Given the description of an element on the screen output the (x, y) to click on. 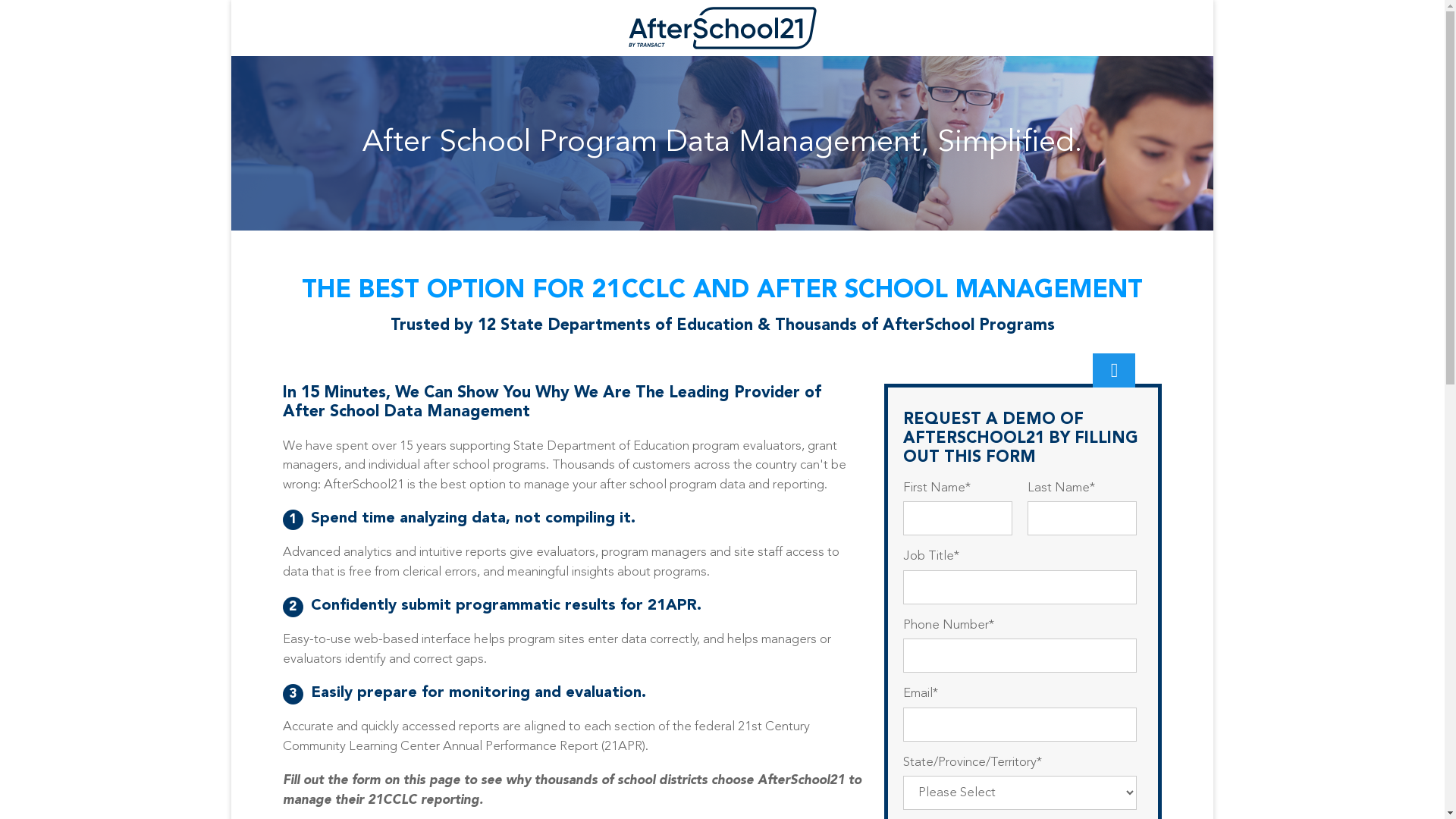
After School 21 - Full Color Element type: hover (722, 28)
